Given the description of an element on the screen output the (x, y) to click on. 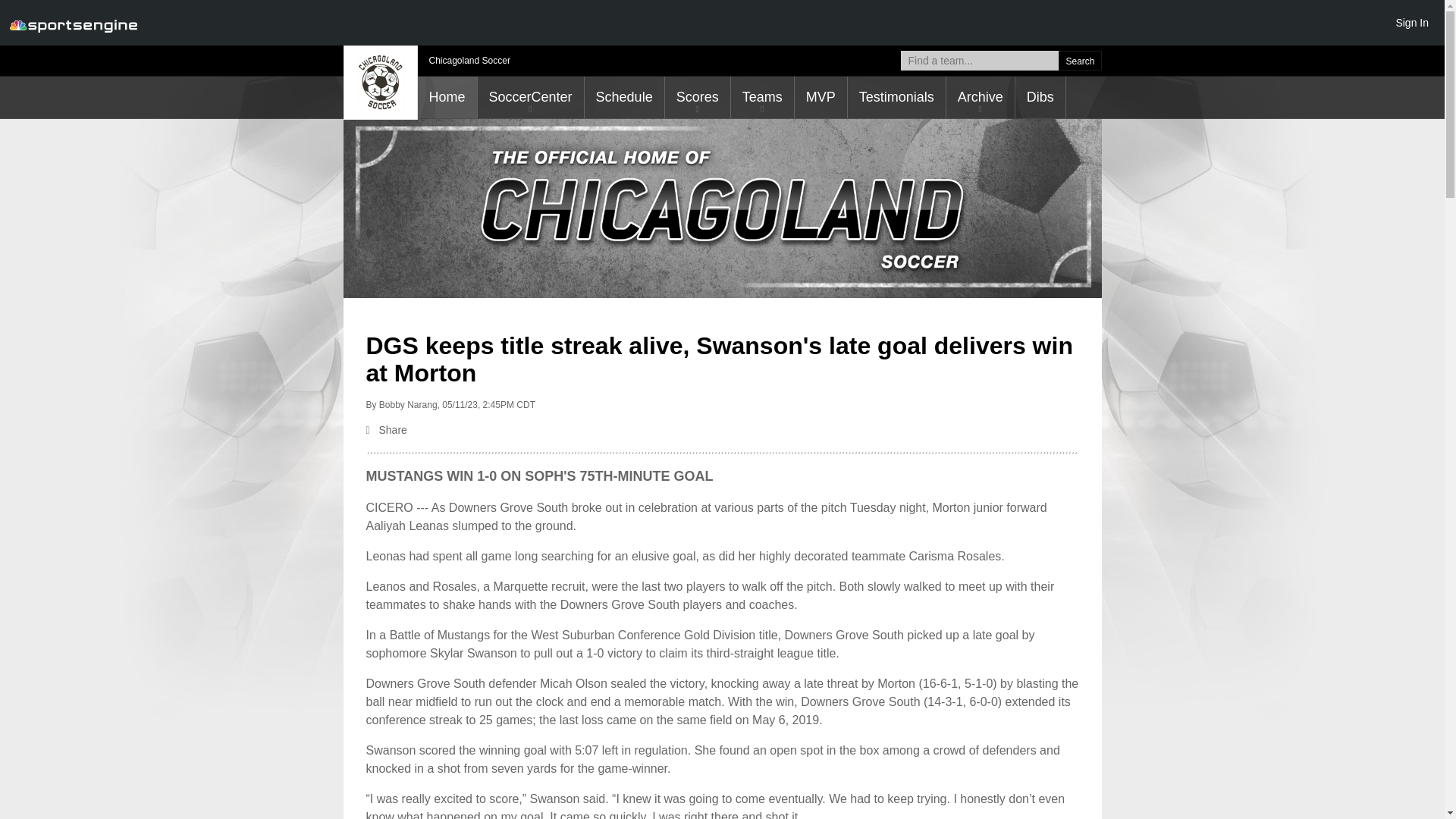
click to go to 'Home' (446, 96)
click to go to 'SoccerCenter' (530, 96)
Testimonials (895, 96)
SportsEngine (73, 22)
click to go to 'Scores' (697, 96)
Dibs (1039, 96)
Sign In (1411, 22)
Archive (980, 96)
click to go to 'Testimonials' (895, 96)
MVP (820, 96)
